Given the description of an element on the screen output the (x, y) to click on. 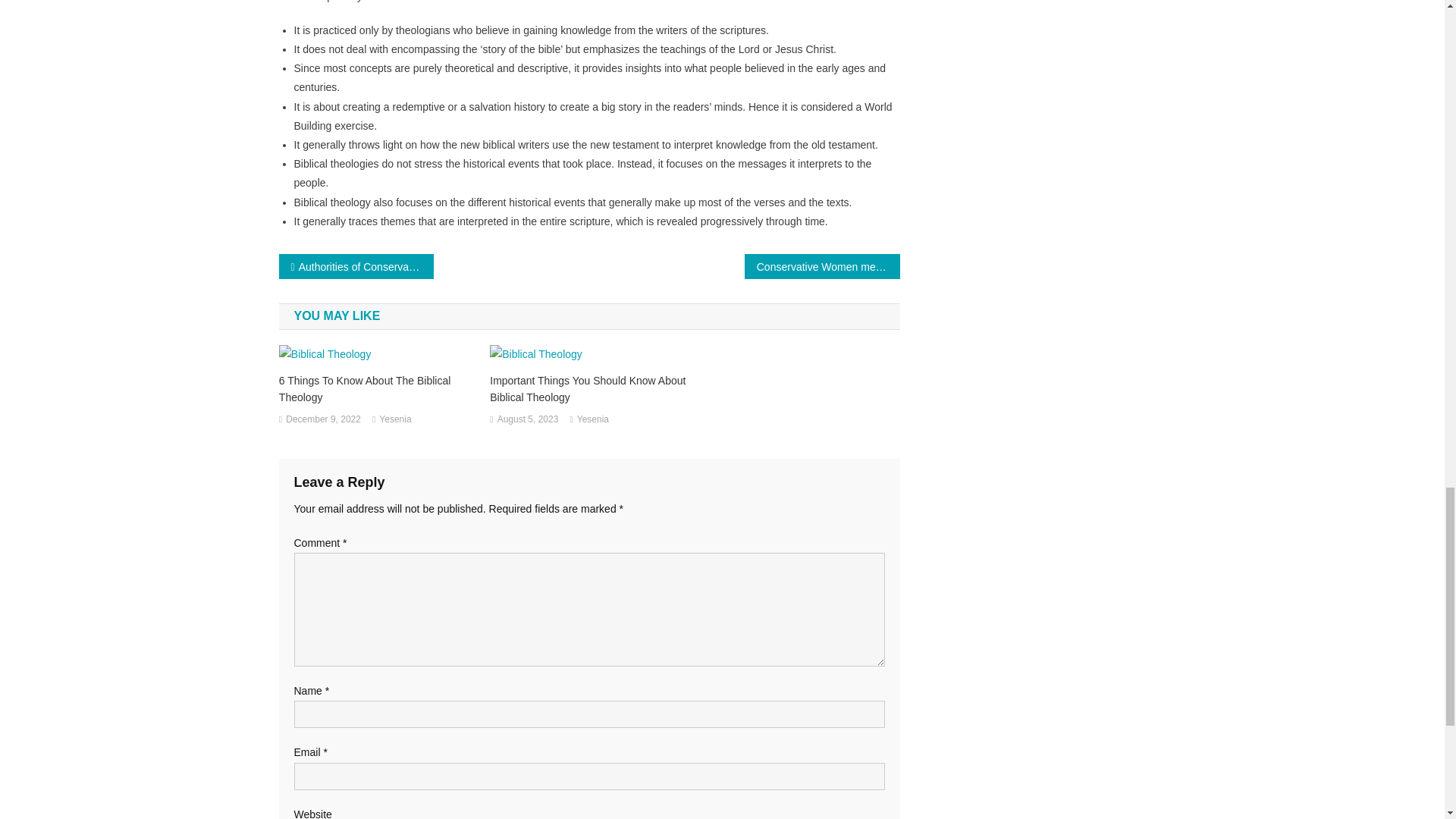
Important Things You Should Know About Biblical Theology (588, 388)
6 Things To Know About The Biblical Theology (378, 388)
Yesenia (592, 419)
Conservative Women mentioned in the Bible (821, 266)
Authorities of Conservative Women in Christianity (356, 266)
August 5, 2023 (528, 419)
Yesenia (394, 419)
December 9, 2022 (323, 419)
